Given the description of an element on the screen output the (x, y) to click on. 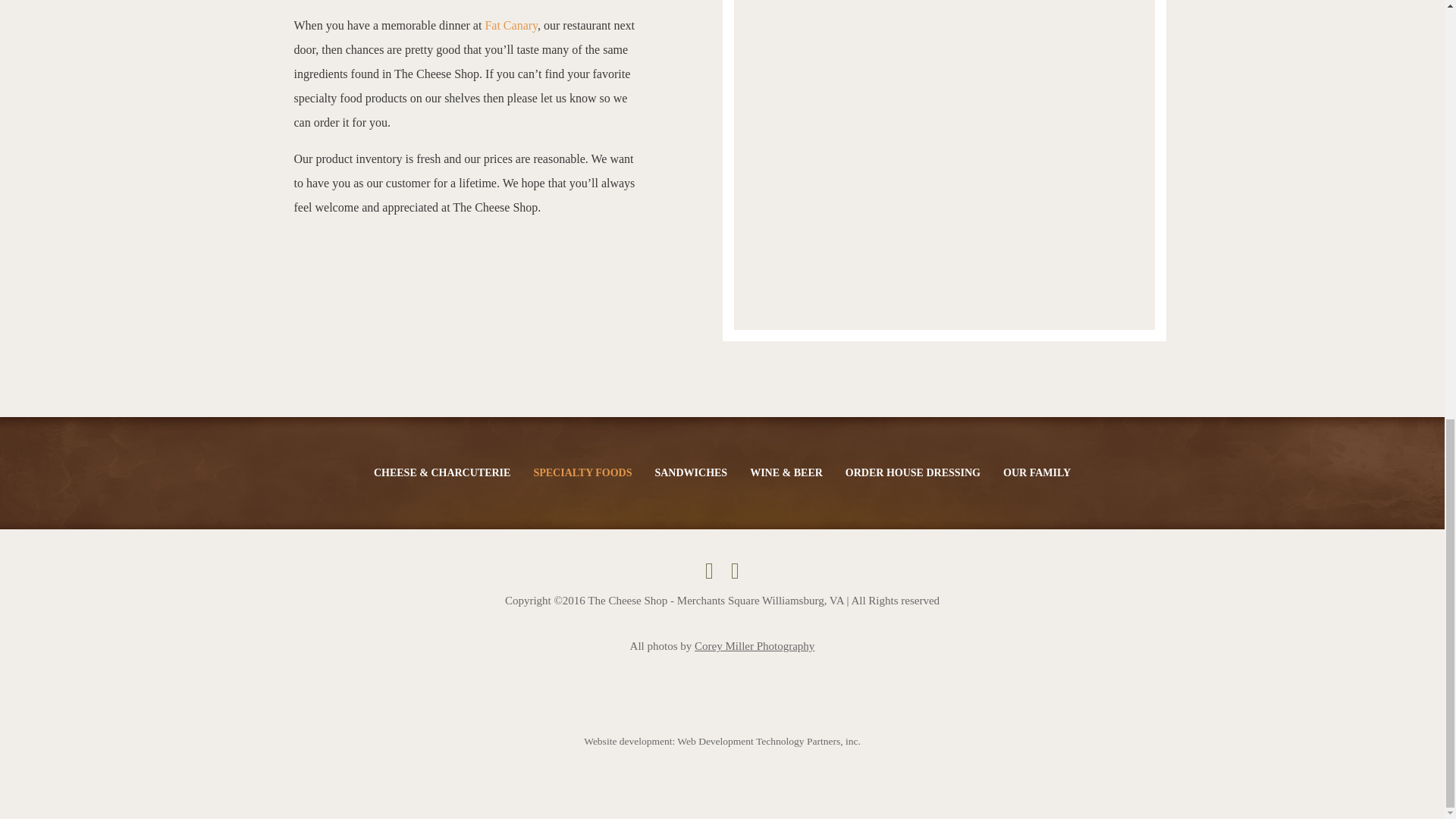
ORDER HOUSE DRESSING (912, 472)
Fat Canary (491, 24)
Corey Miller Photography (753, 645)
